Given the description of an element on the screen output the (x, y) to click on. 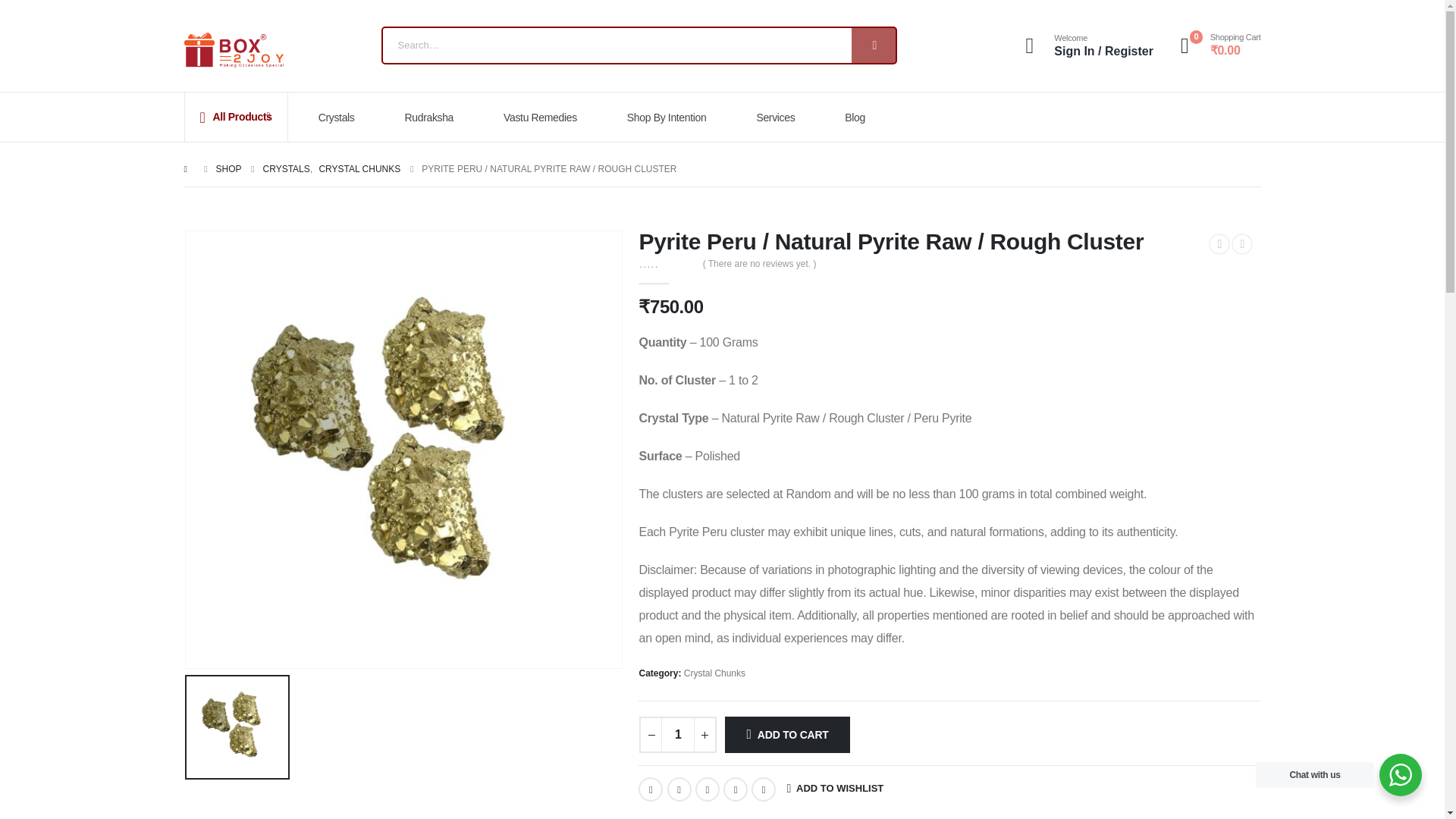
1 (677, 734)
Crystals (341, 116)
Search (873, 45)
Rudraksha (434, 116)
